Given the description of an element on the screen output the (x, y) to click on. 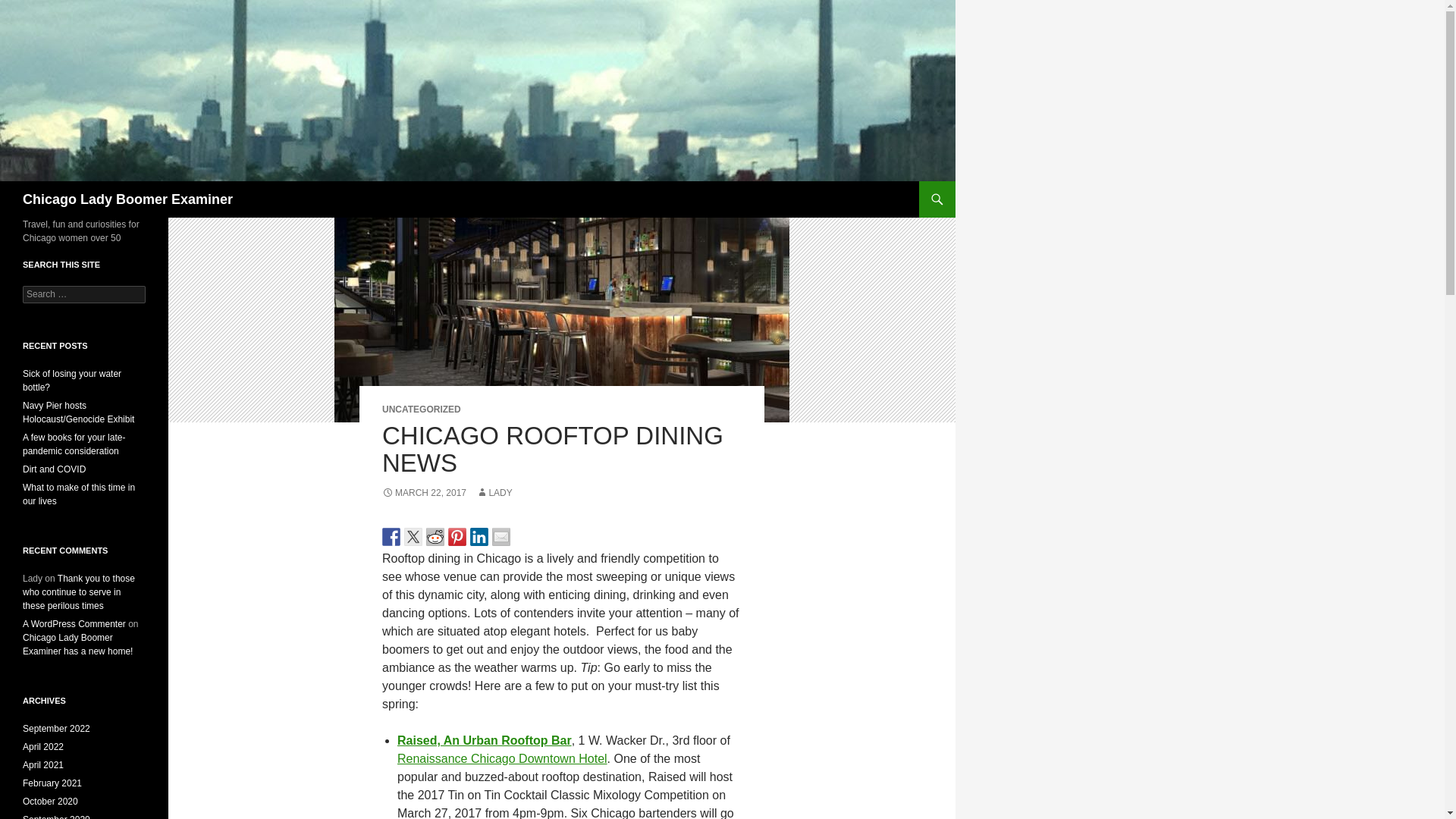
Renaissance Chicago Downtown Hotel (502, 758)
Raised, An Urban Rooftop Bar (484, 739)
Share on Linkedin (478, 536)
Share on Reddit (435, 536)
Share by email (501, 536)
LADY (494, 492)
A few books for your late-pandemic consideration (74, 444)
Sick of losing your water bottle? (71, 380)
What to make of this time in our lives (79, 494)
Search (30, 8)
MARCH 22, 2017 (423, 492)
Share on Twitter (413, 536)
Dirt and COVID (54, 469)
